Given the description of an element on the screen output the (x, y) to click on. 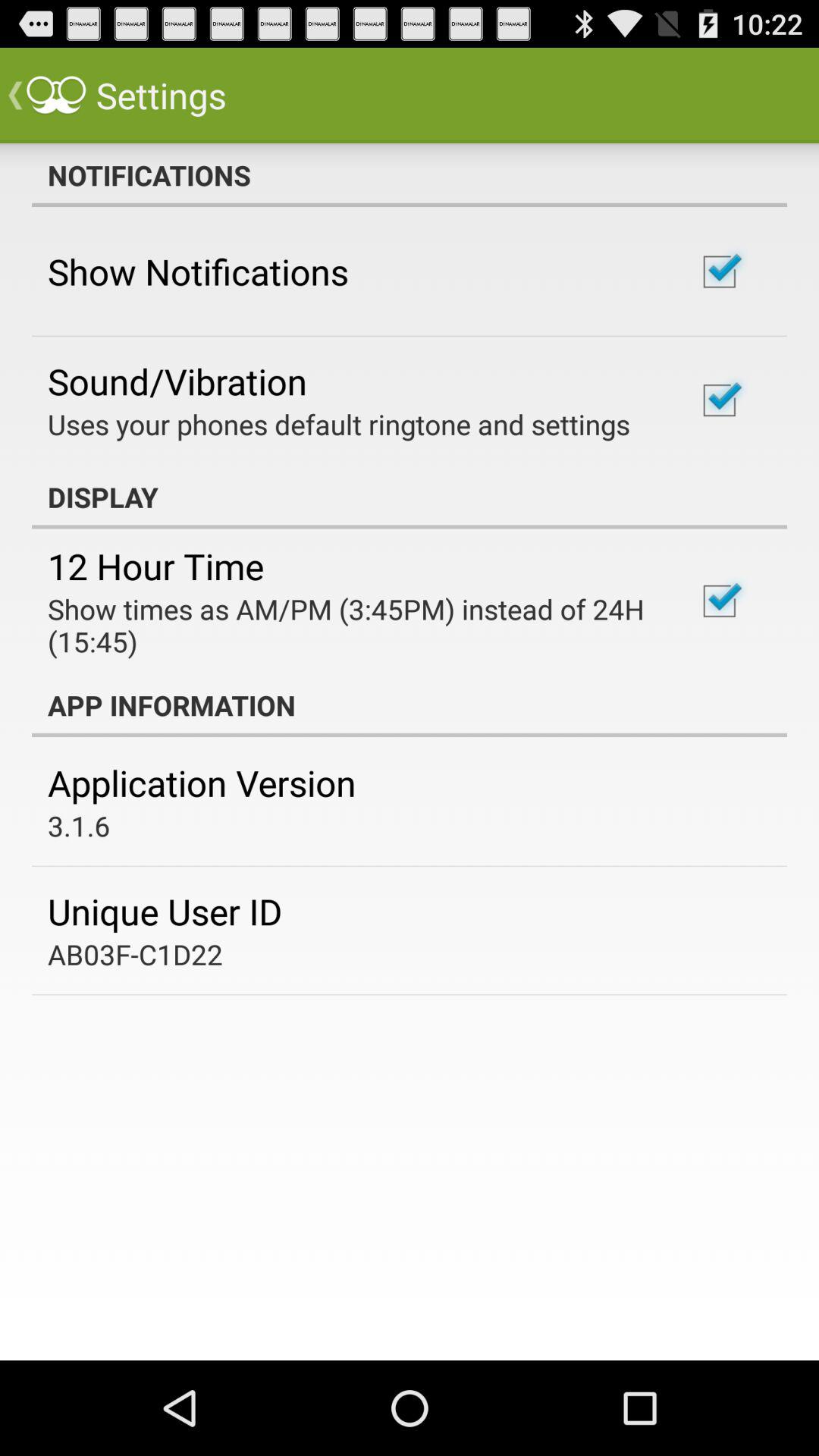
press the app above the unique user id (78, 825)
